Given the description of an element on the screen output the (x, y) to click on. 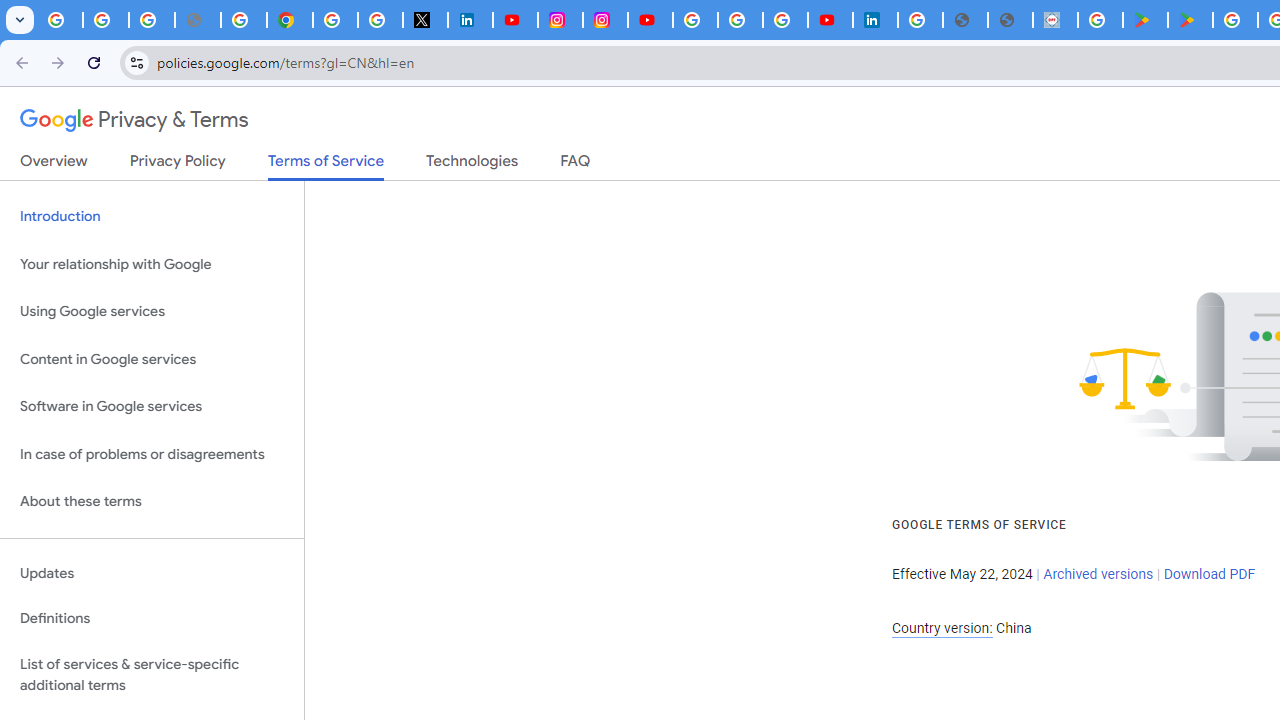
Data Privacy Framework (1055, 20)
Country version: (942, 628)
Using Google services (152, 312)
Privacy Help Center - Policies Help (244, 20)
